Given the description of an element on the screen output the (x, y) to click on. 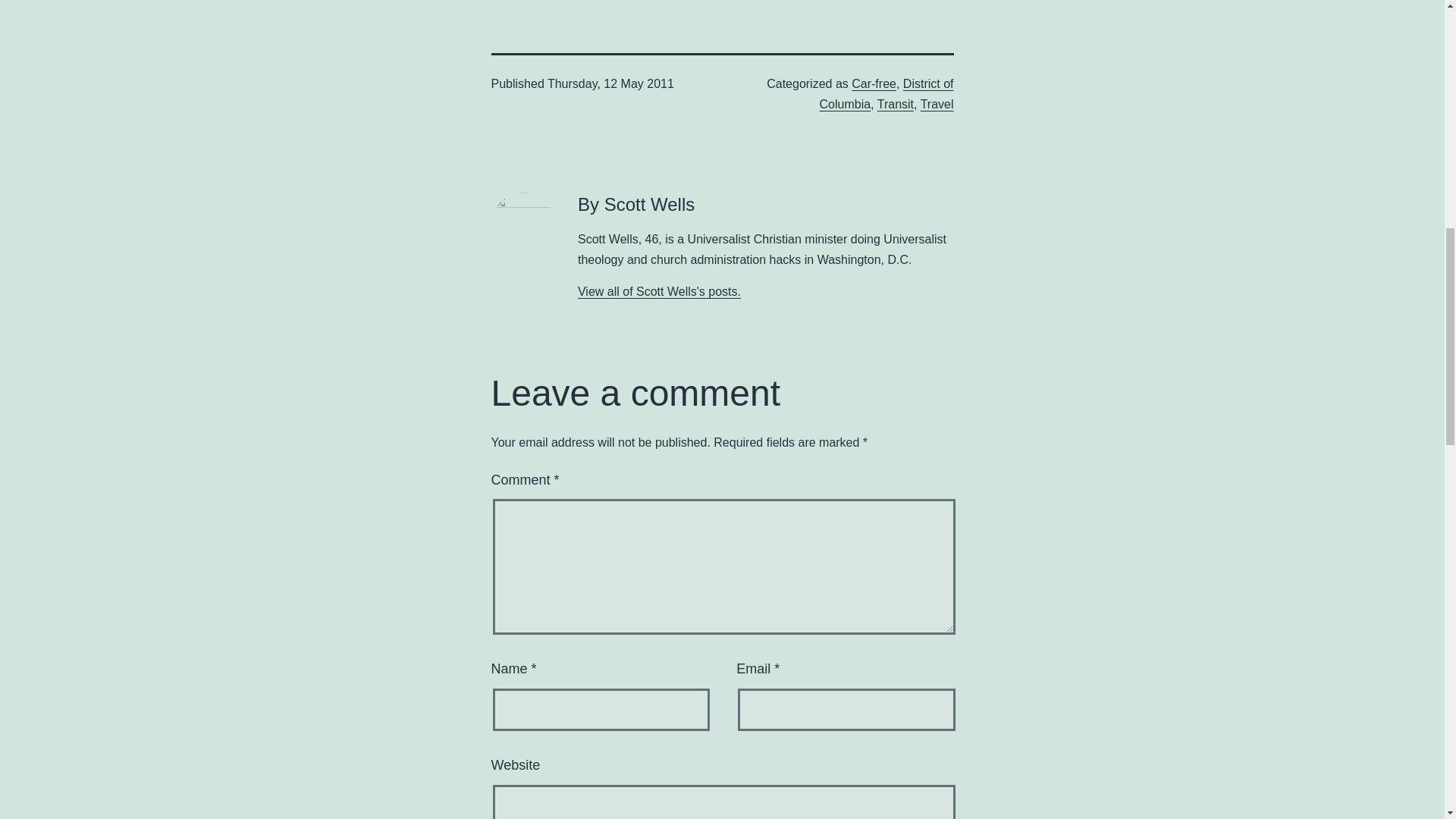
View all of Scott Wells's posts. (659, 291)
District of Columbia (886, 93)
Travel (936, 103)
Car-free (873, 83)
Transit (895, 103)
